Given the description of an element on the screen output the (x, y) to click on. 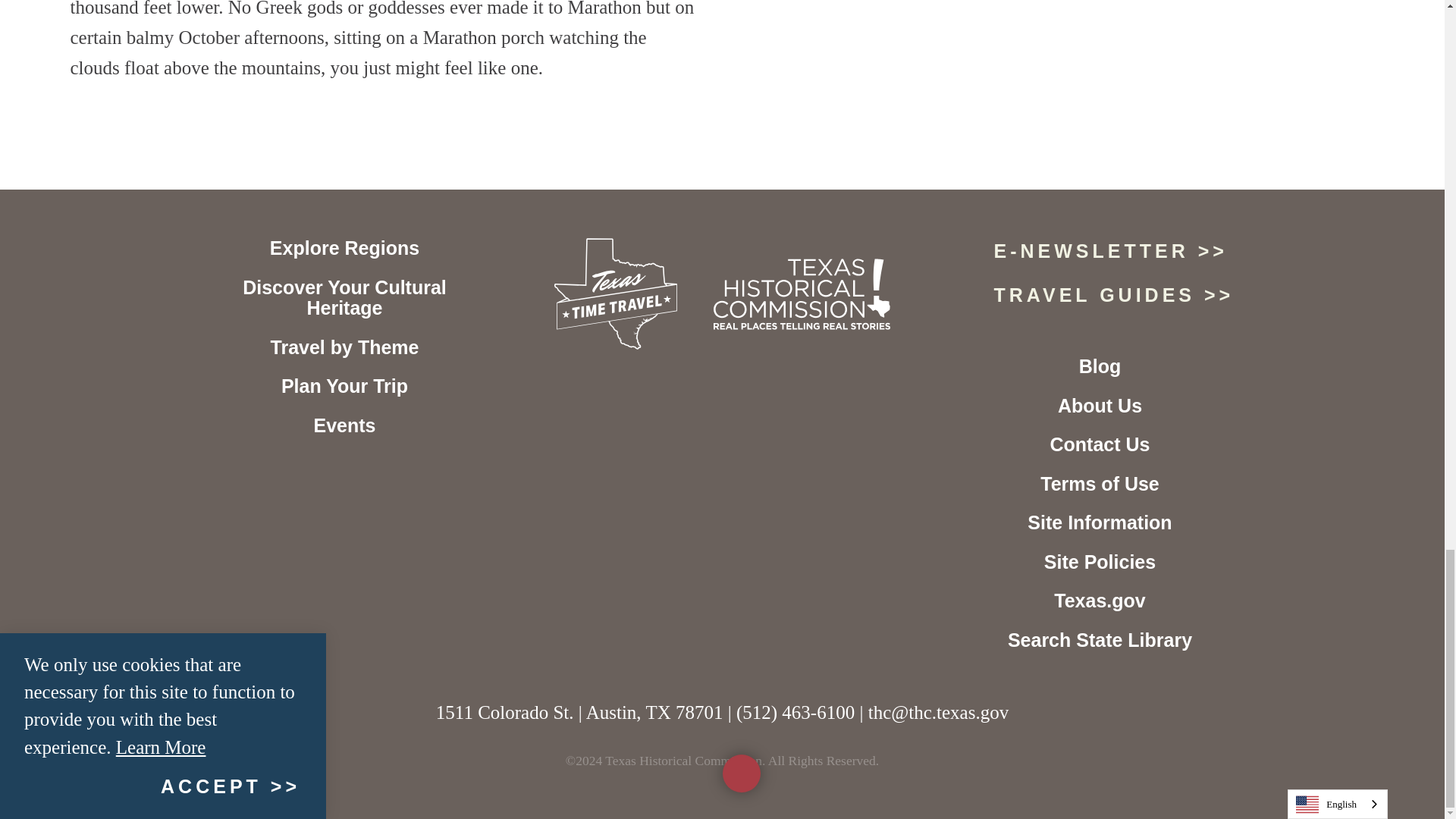
Discover Your Cultural Heritage (344, 297)
Explore Regions (344, 247)
Travel by Theme (344, 346)
